Given the description of an element on the screen output the (x, y) to click on. 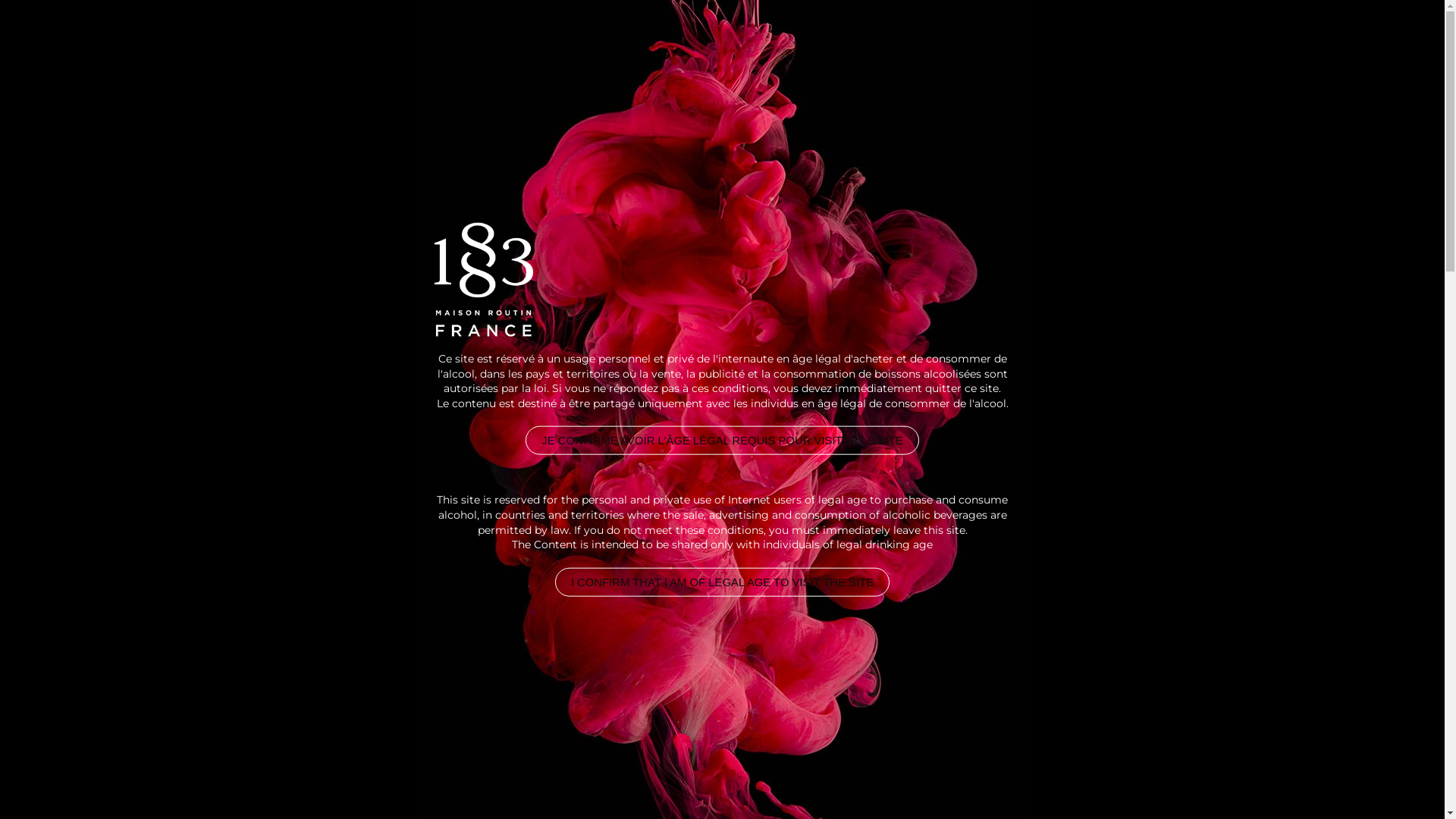
EN Element type: text (1248, 61)
FR Element type: text (1277, 61)
LA SIGNATURE 1883 Element type: text (458, 61)
DRINK DESIGN Element type: text (299, 61)
COLLECTIONS Element type: text (839, 61)
RECETTES Element type: text (959, 61)
TENDANCES Element type: text (1162, 61)
ROUTIN Element type: text (1056, 61)
I CONFIRM THAT I AM OF LEGAL AGE TO VISIT THE SITE Element type: text (722, 581)
